Given the description of an element on the screen output the (x, y) to click on. 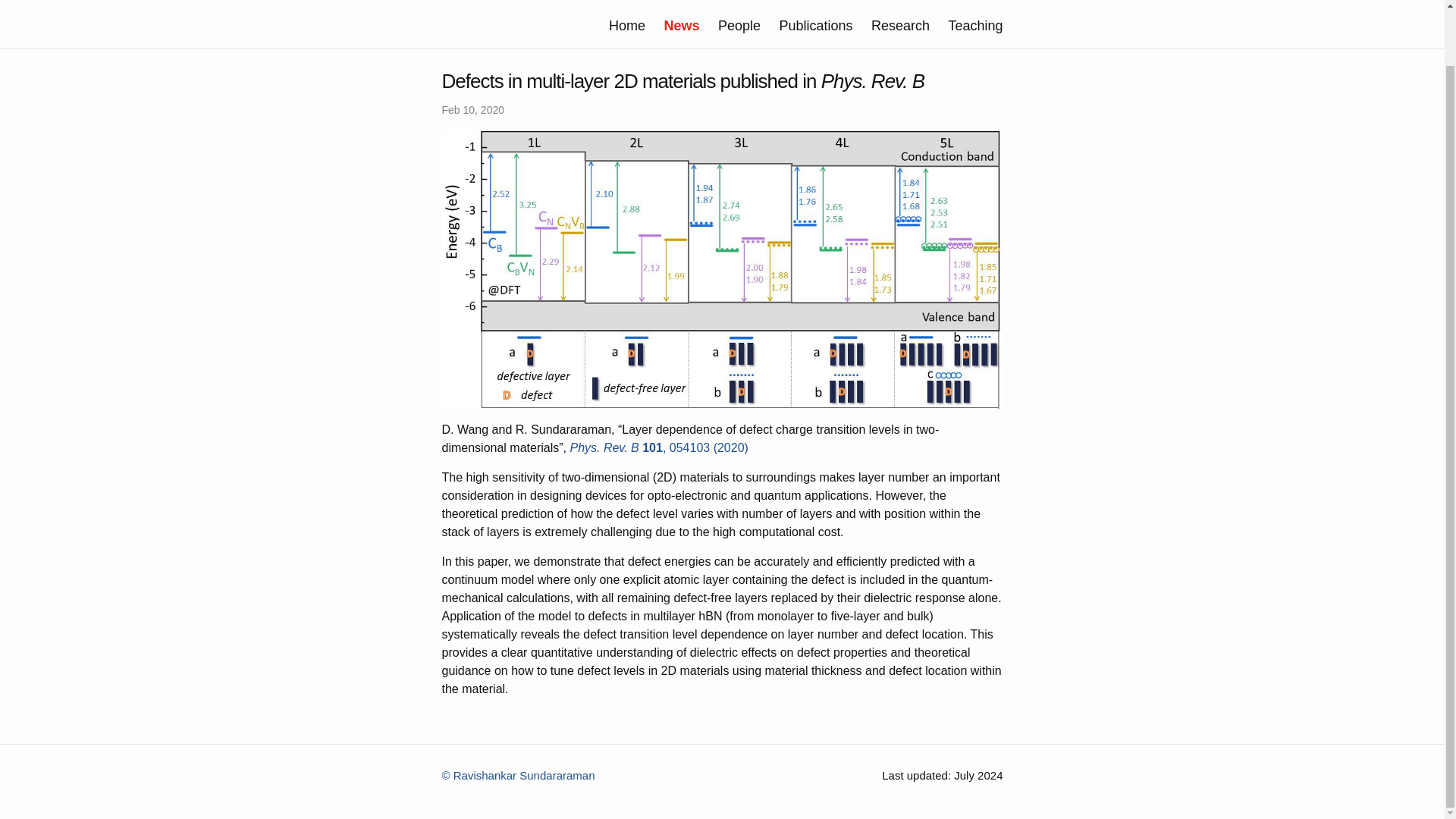
Home (626, 25)
People (738, 25)
News (680, 25)
Research (900, 25)
Teaching (975, 25)
Publications (814, 25)
